Given the description of an element on the screen output the (x, y) to click on. 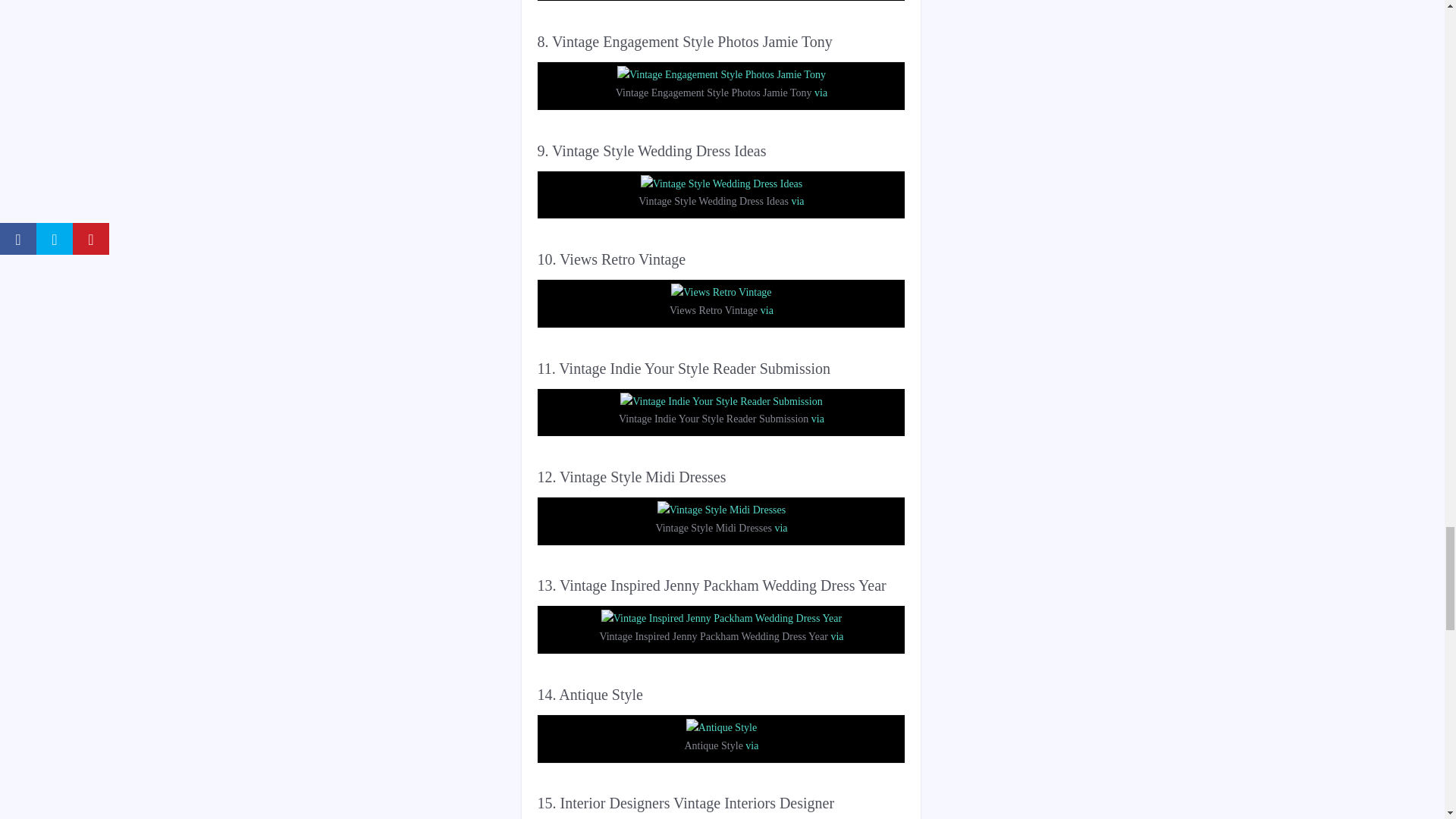
via (817, 419)
via (796, 201)
via (780, 527)
via (820, 92)
via (766, 310)
